Given the description of an element on the screen output the (x, y) to click on. 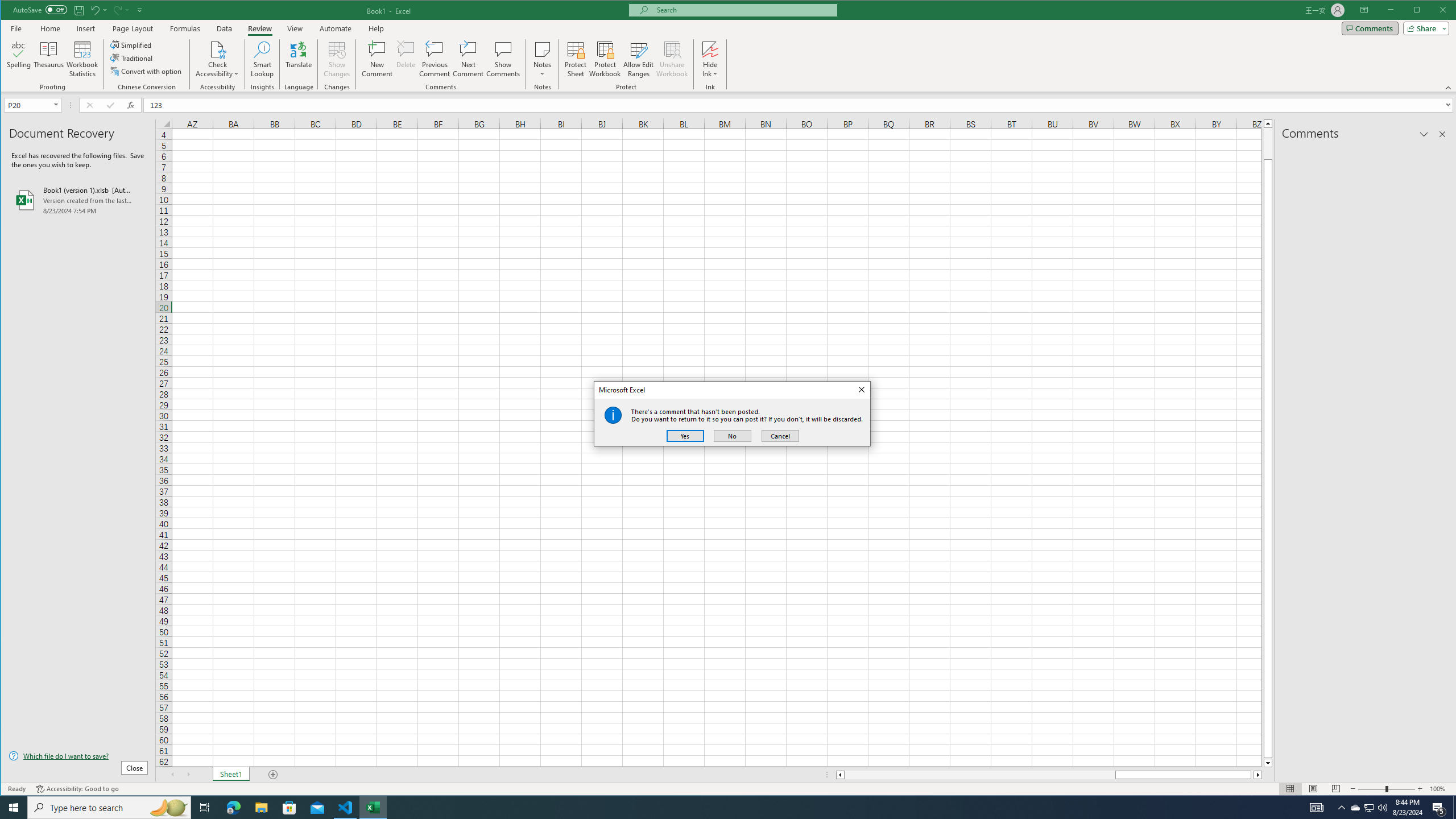
Delete (405, 59)
Page up (1267, 142)
Translate (298, 59)
Unshare Workbook (671, 59)
Microsoft Store (289, 807)
User Promoted Notification Area (1368, 807)
Hide Ink (710, 48)
